Given the description of an element on the screen output the (x, y) to click on. 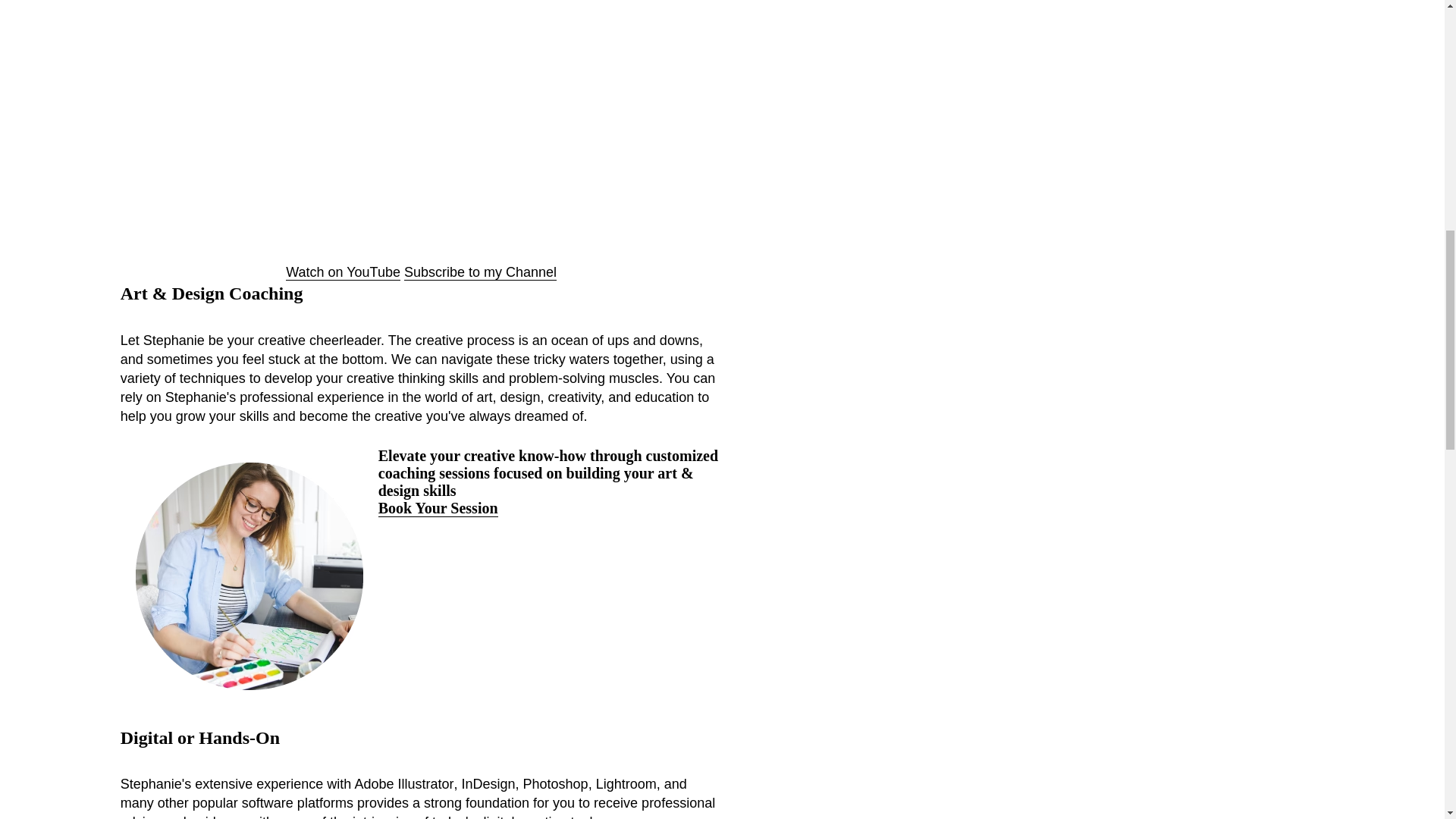
Watch on YouTube (342, 272)
Book Your Session (437, 507)
Subscribe to my Channel (480, 272)
